Given the description of an element on the screen output the (x, y) to click on. 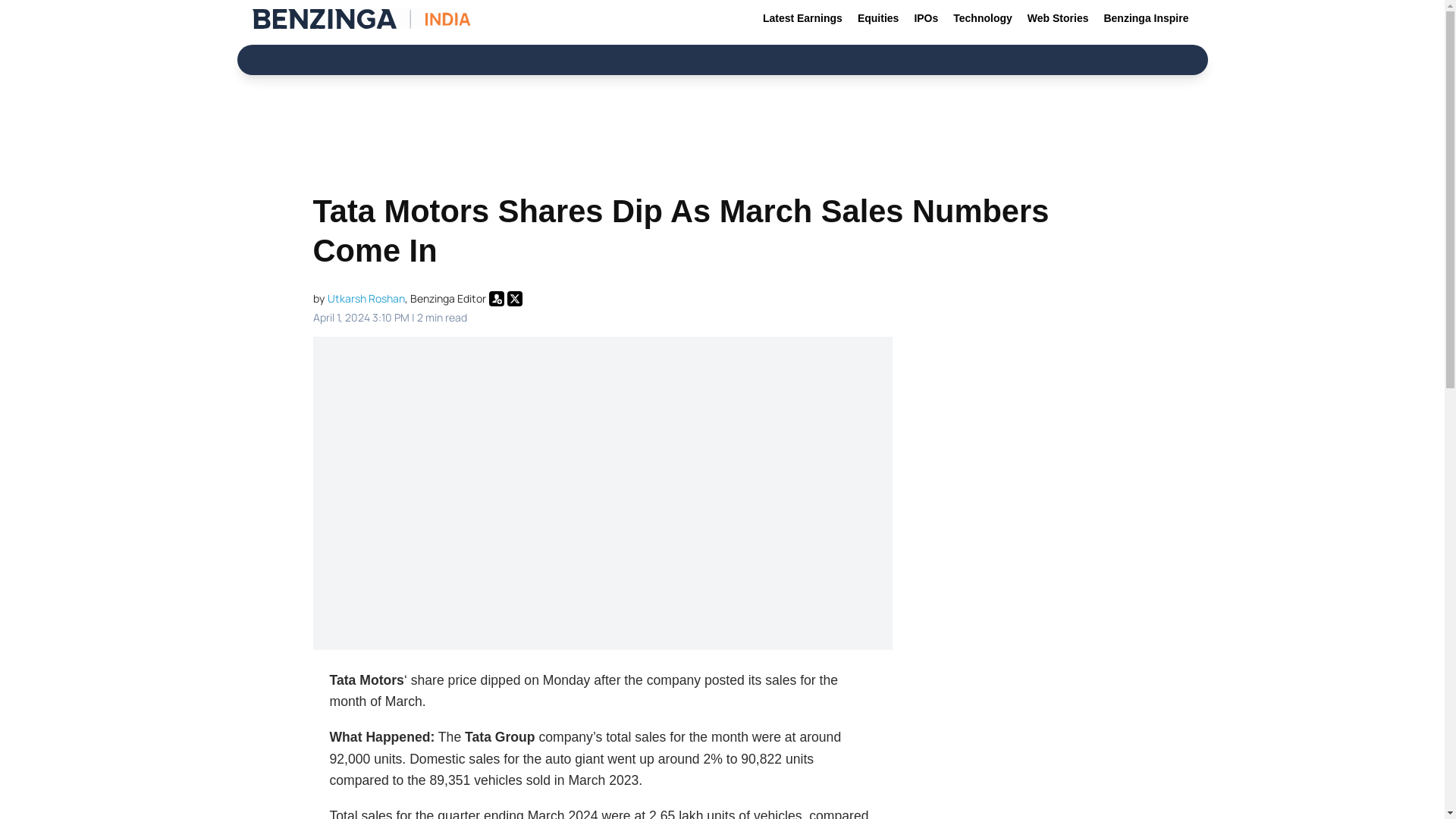
IPOs (924, 18)
Utkarsh Roshan (365, 298)
IPOs (924, 18)
Benzinga Inspire (1145, 18)
Latest Earnings (802, 18)
Equities (877, 18)
Equities (877, 18)
Technology (982, 18)
Benzinga Inspire (1145, 18)
Technology (982, 18)
Web Stories (1058, 18)
Latest Earnings (802, 18)
Web Stories (1058, 18)
